Given the description of an element on the screen output the (x, y) to click on. 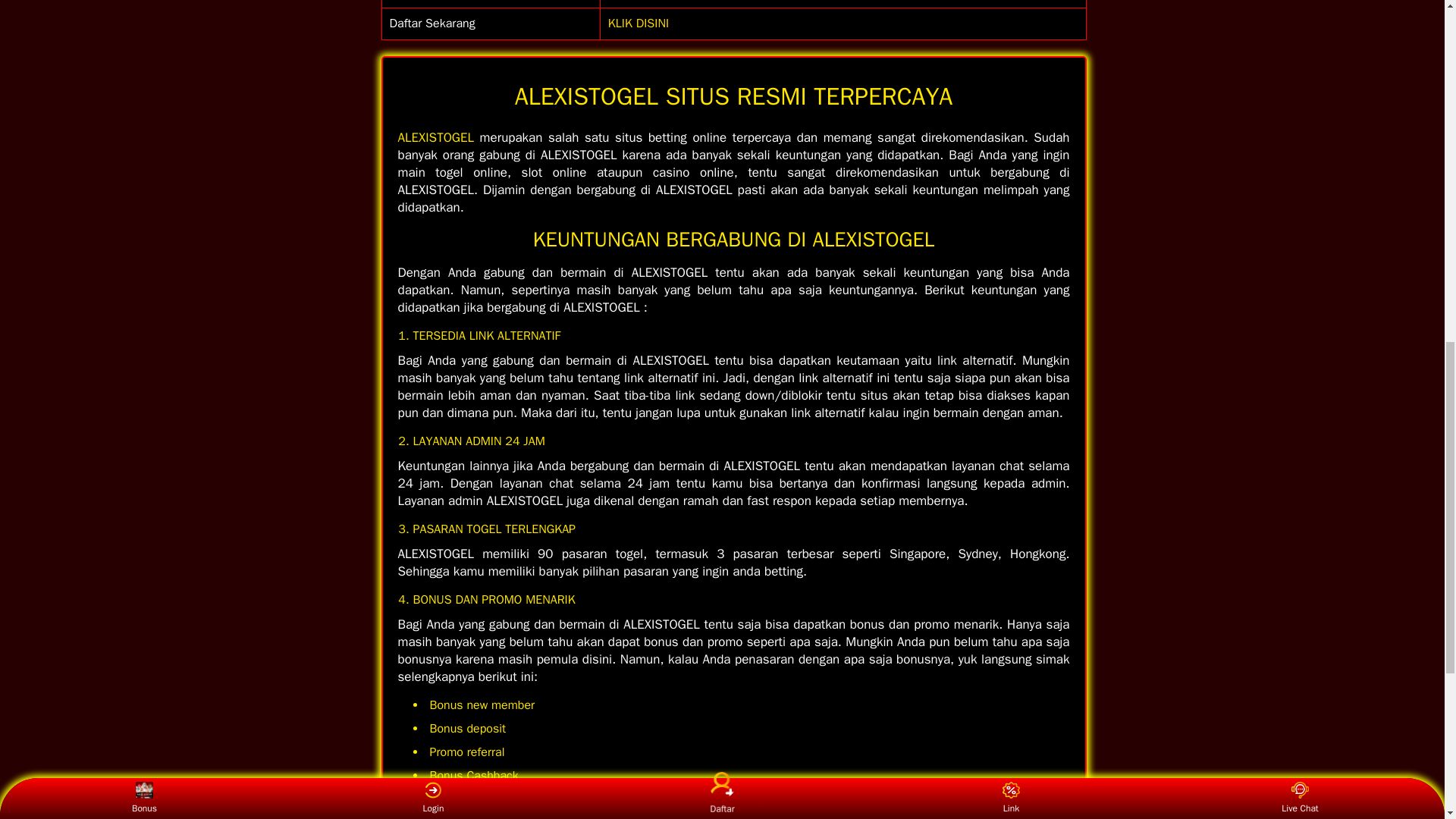
KLIK DISINI (638, 23)
ALEXISTOGEL: Selamat Datang di Link Resmi dan Gampang Menang (638, 23)
ALEXISTOGEL (435, 137)
